Given the description of an element on the screen output the (x, y) to click on. 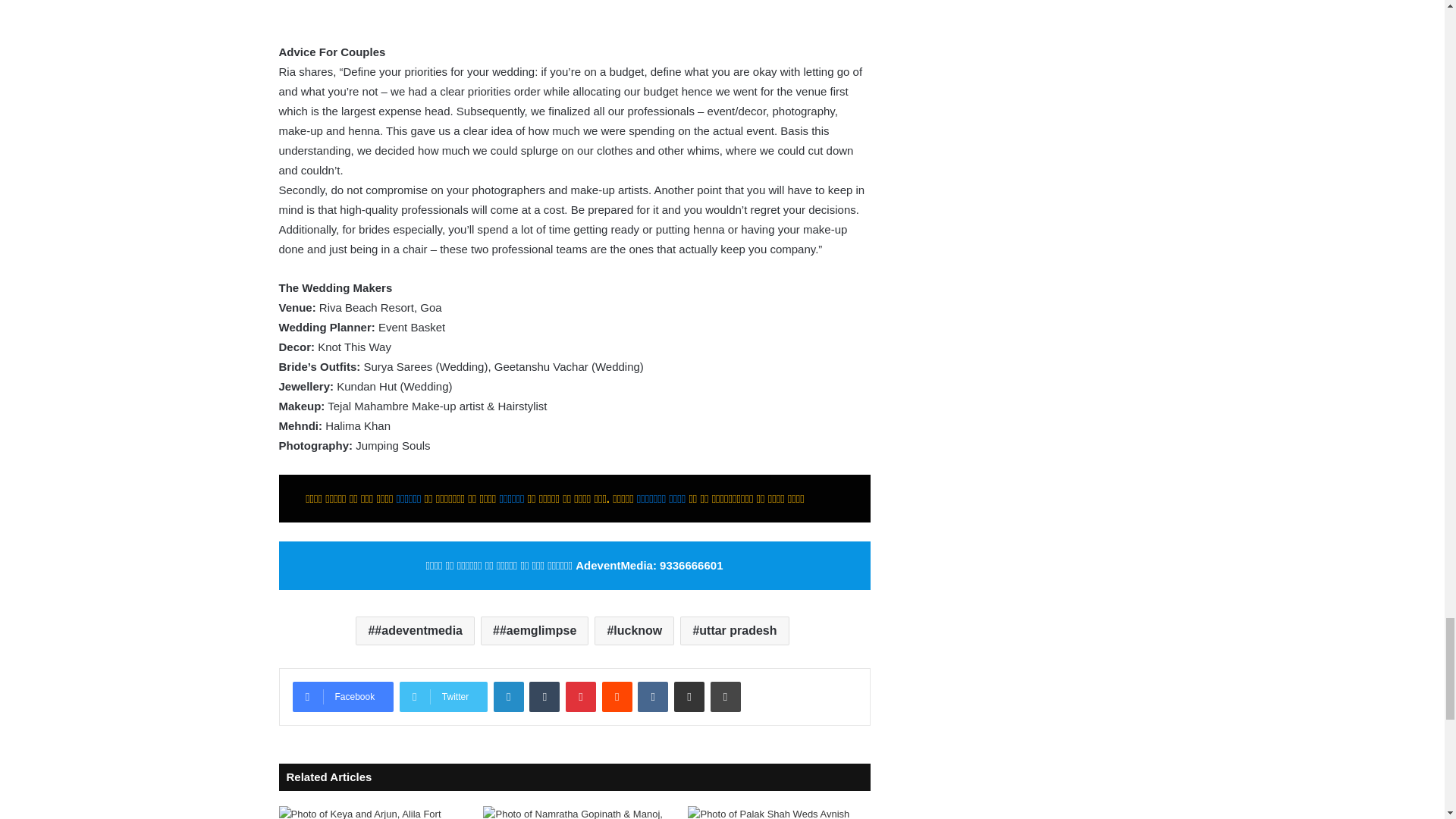
VKontakte (652, 696)
Print (725, 696)
Reddit (616, 696)
Twitter (442, 696)
LinkedIn (508, 696)
Tumblr (544, 696)
Pinterest (580, 696)
Share via Email (689, 696)
Facebook (343, 696)
